Given the description of an element on the screen output the (x, y) to click on. 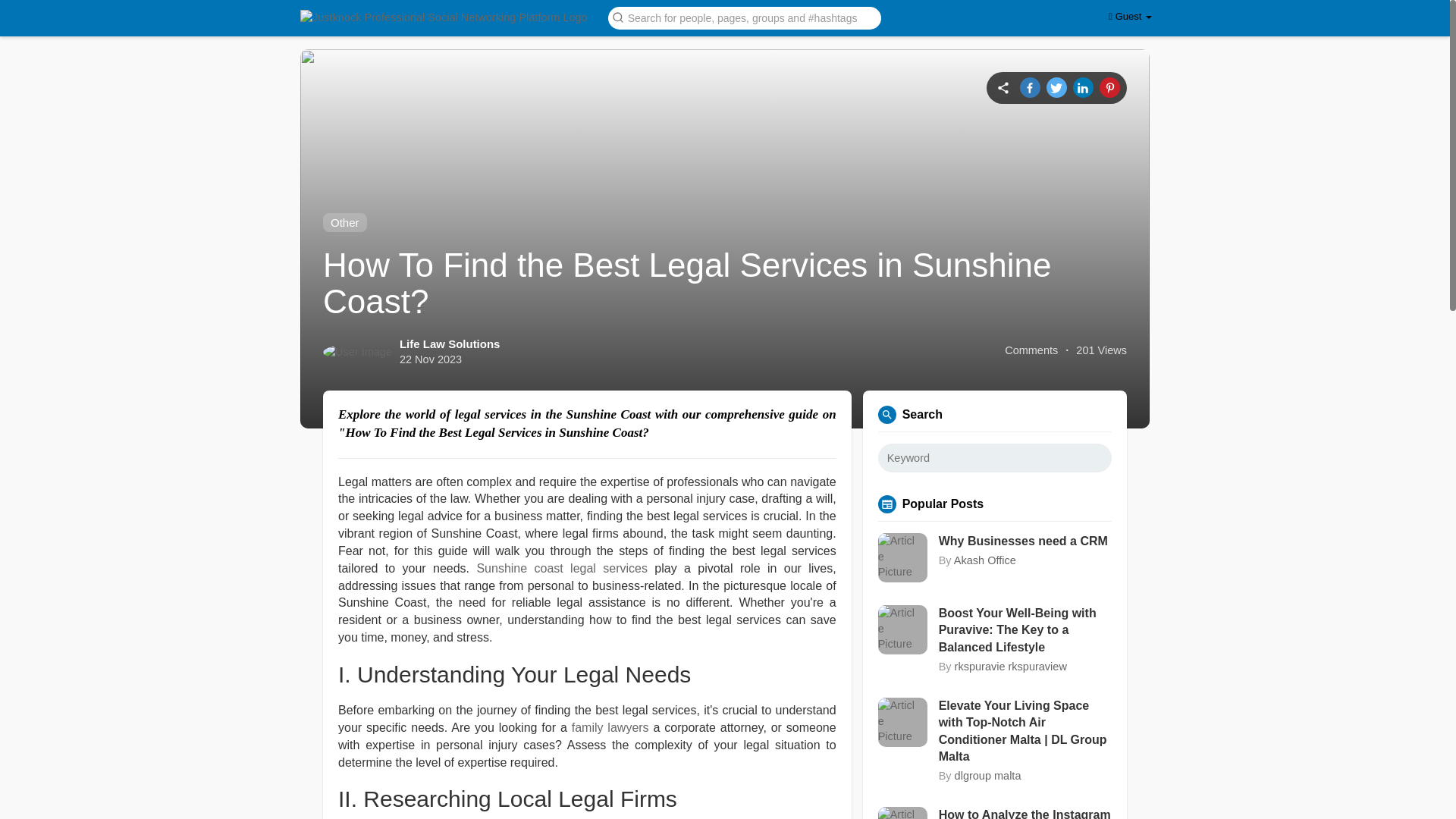
Life Law Solutions (449, 343)
Other (344, 221)
Comments (1031, 350)
How to Analyze the Instagram Competitor (1025, 812)
rkspuravie rkspuraview (1011, 666)
Facebook (1029, 86)
dlgroup malta (988, 775)
family lawyers (610, 727)
Timeline (1002, 86)
Guest (1129, 17)
Twitter (1056, 86)
Pinterest (1109, 86)
Akash Office (984, 560)
Why Businesses need a CRM (1025, 541)
